Given the description of an element on the screen output the (x, y) to click on. 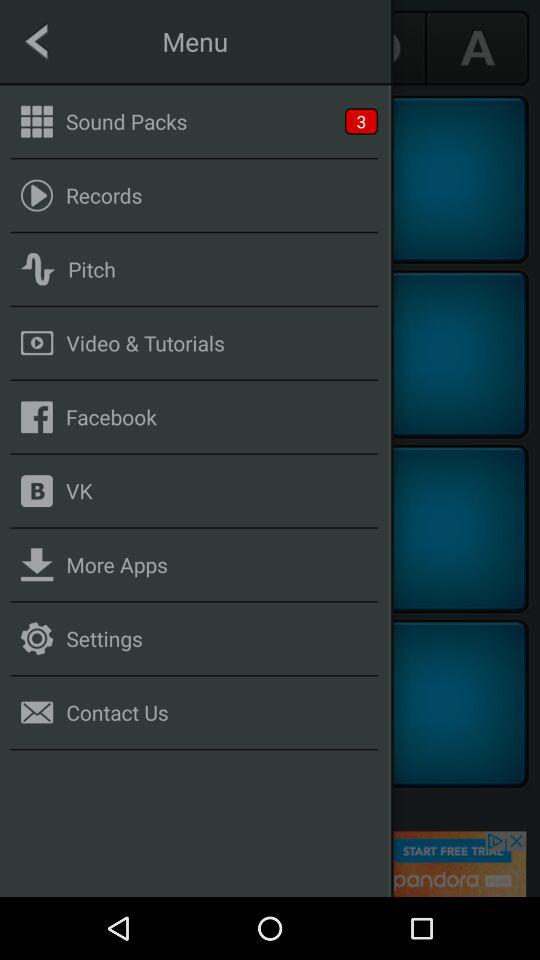
click on the button which is left side of the menu (61, 48)
